Given the description of an element on the screen output the (x, y) to click on. 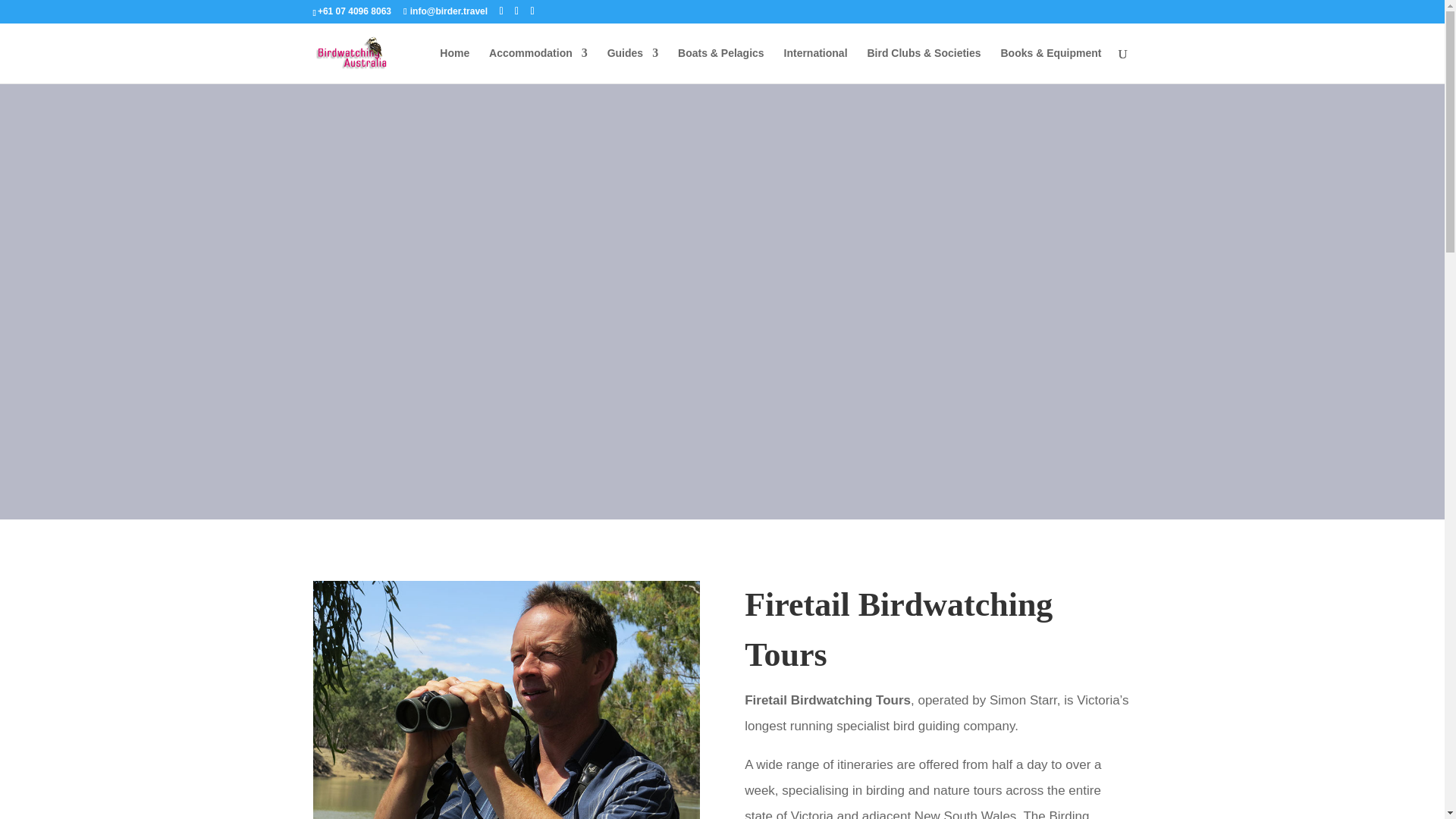
Accommodation (538, 65)
Guides (632, 65)
International (815, 65)
Simon Starr - Featured (505, 699)
